Given the description of an element on the screen output the (x, y) to click on. 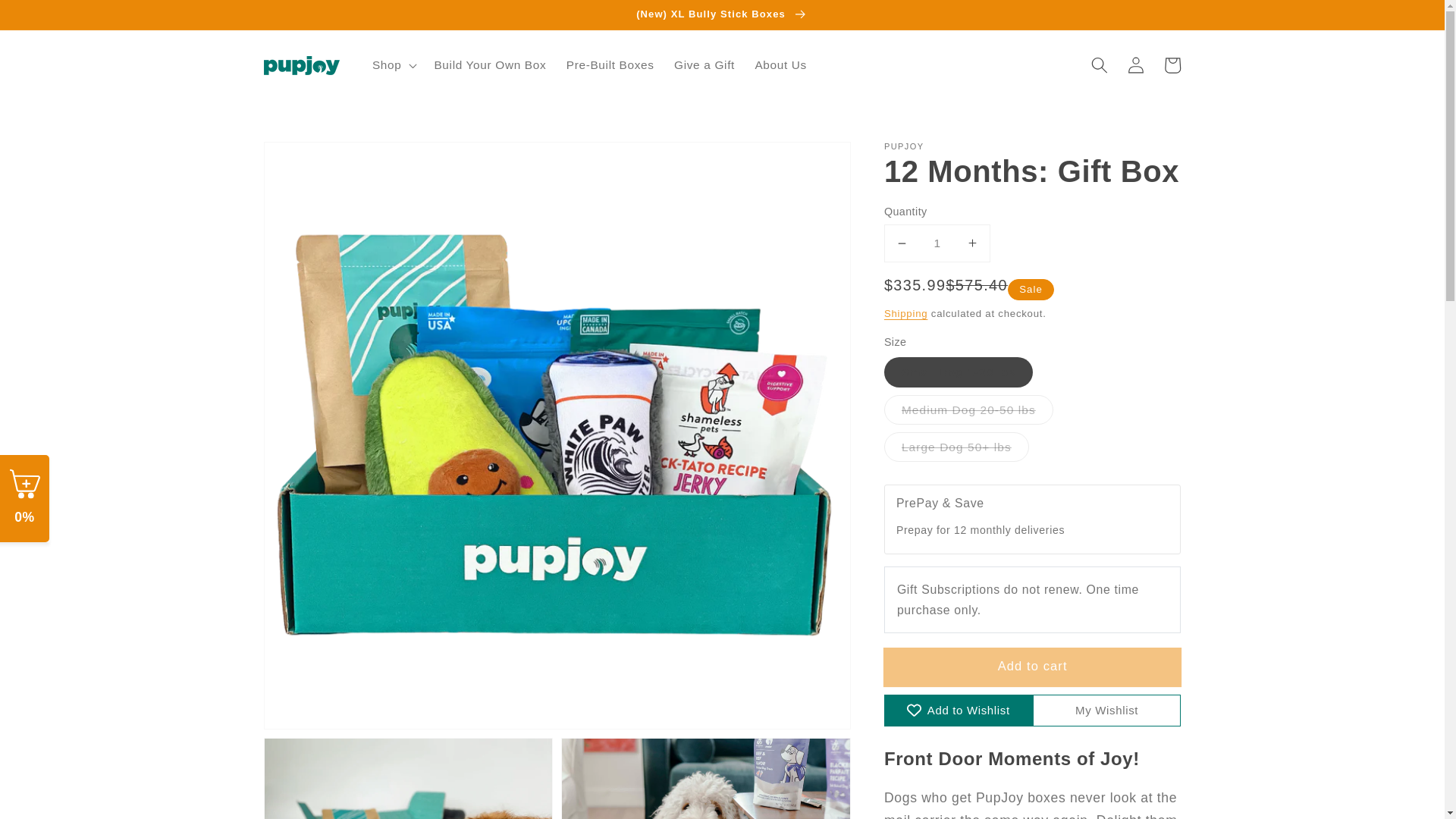
Skip to content (49, 18)
1 (936, 243)
